Given the description of an element on the screen output the (x, y) to click on. 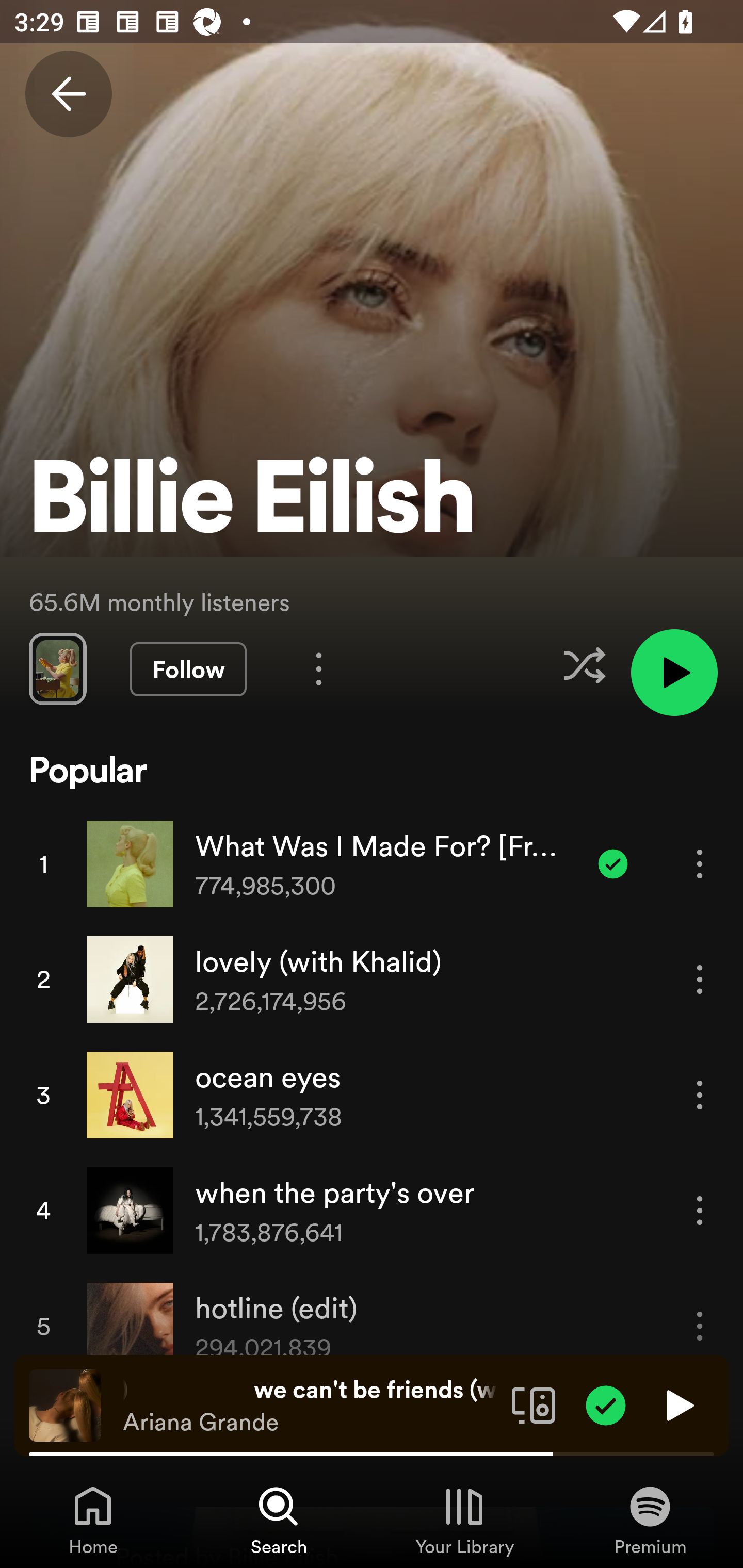
Back (68, 93)
Enable shuffle for this artist (583, 665)
Swipe through previews of tracks from this artist. (57, 668)
More options for artist Billie Eilish (318, 668)
Play artist (674, 672)
Follow (188, 669)
Item added (612, 863)
More options for song lovely (with Khalid) (699, 979)
More options for song ocean eyes (699, 1095)
More options for song when the party's over (699, 1210)
More options for song hotline (edit) (699, 1325)
The cover art of the currently playing track (64, 1404)
